Given the description of an element on the screen output the (x, y) to click on. 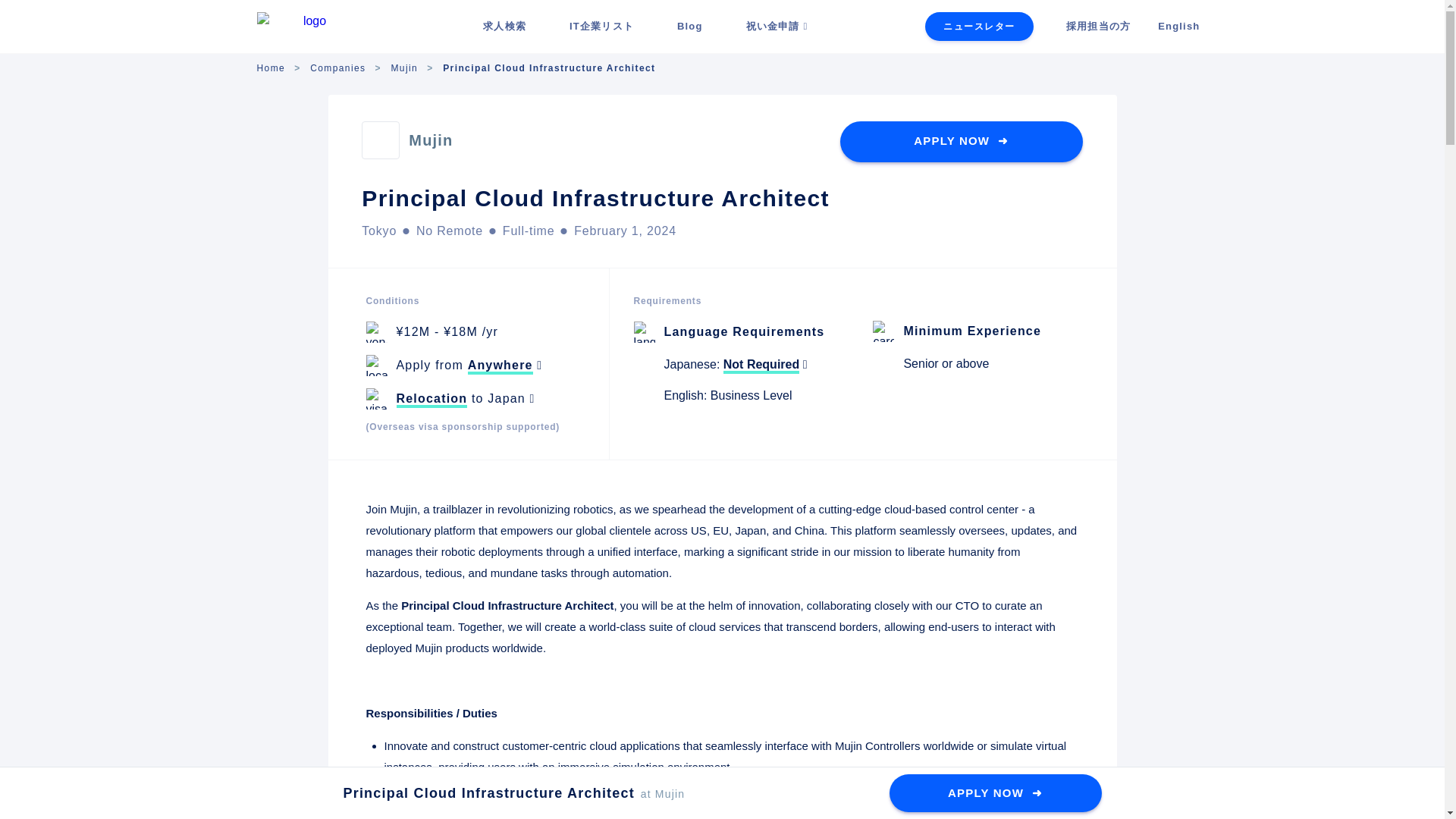
Home (270, 68)
Companies (337, 68)
Mujin (430, 139)
English (1178, 26)
Mujin (403, 68)
Principal Cloud Infrastructure Architect (548, 68)
Blog (690, 26)
